Given the description of an element on the screen output the (x, y) to click on. 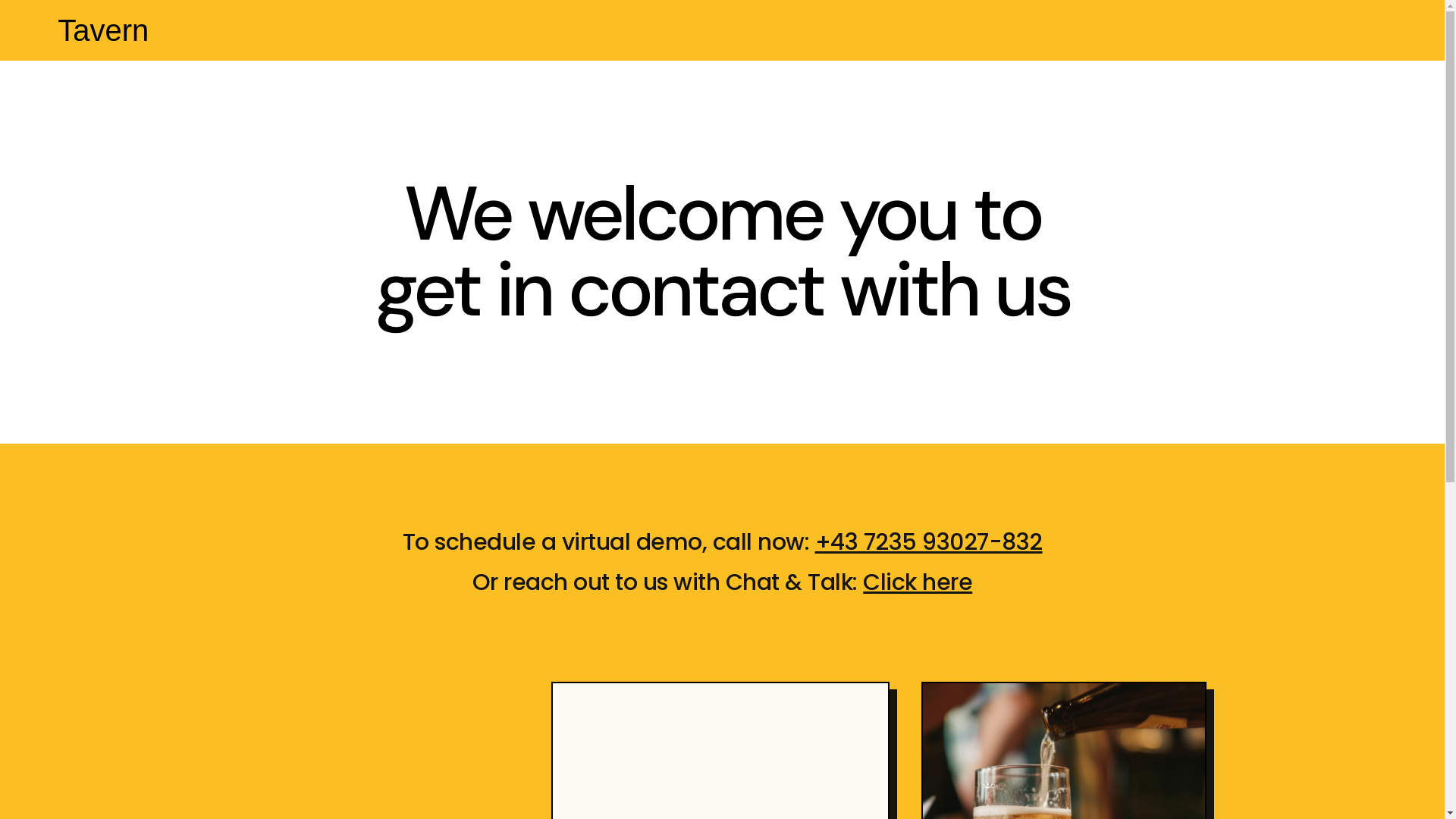
To schedule a virtual demo, call now: +43 7235 93027-832 Element type: text (721, 542)
Tavern Element type: text (102, 30)
Or reach out to us with Chat & Talk: Click here Element type: text (722, 582)
